Given the description of an element on the screen output the (x, y) to click on. 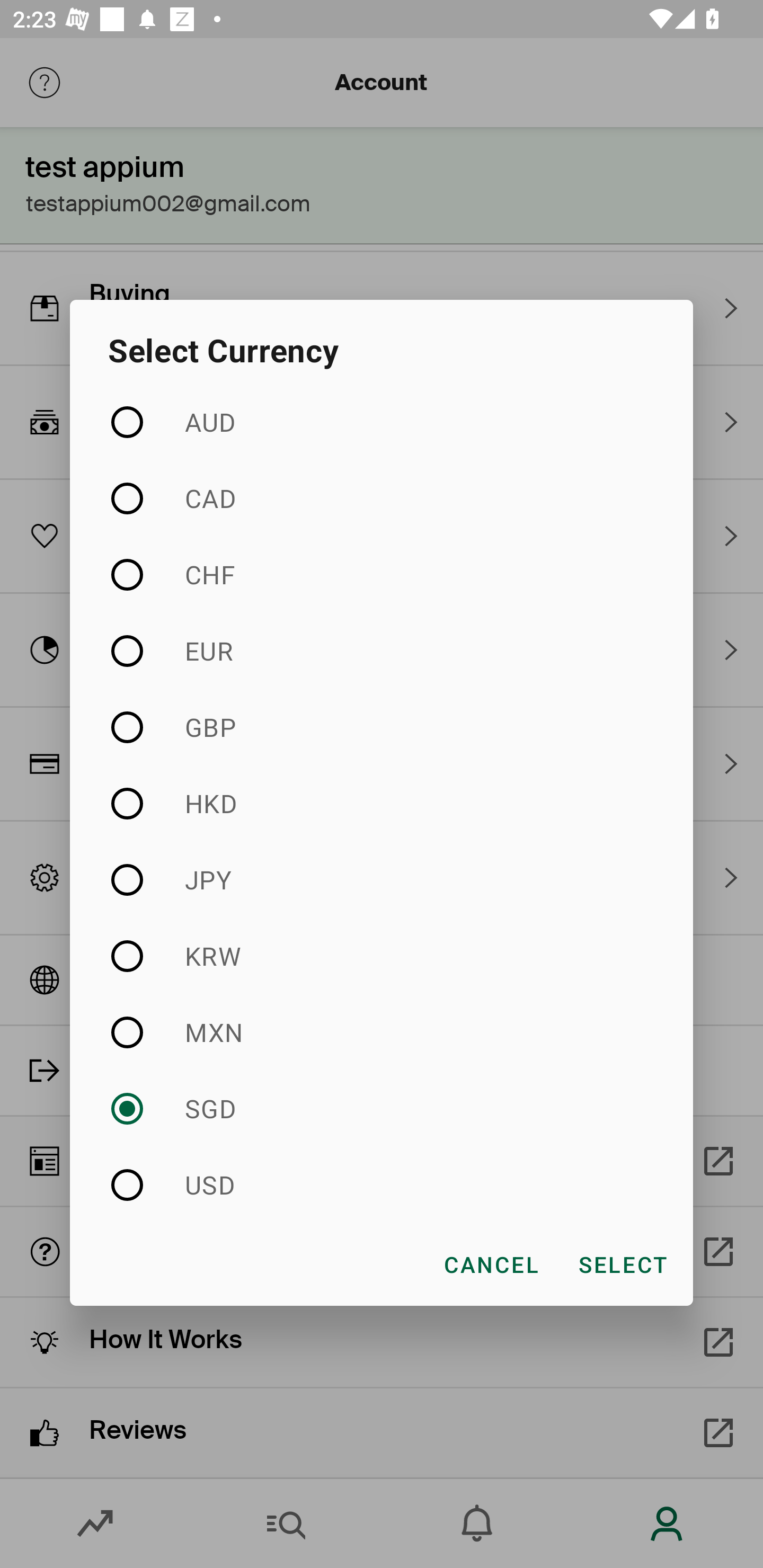
AUD (381, 422)
CAD (381, 498)
CHF (381, 574)
EUR (381, 651)
GBP (381, 727)
HKD (381, 803)
JPY (381, 879)
KRW (381, 955)
MXN (381, 1032)
SGD (381, 1108)
USD (381, 1184)
CANCEL (490, 1264)
SELECT (622, 1264)
